Given the description of an element on the screen output the (x, y) to click on. 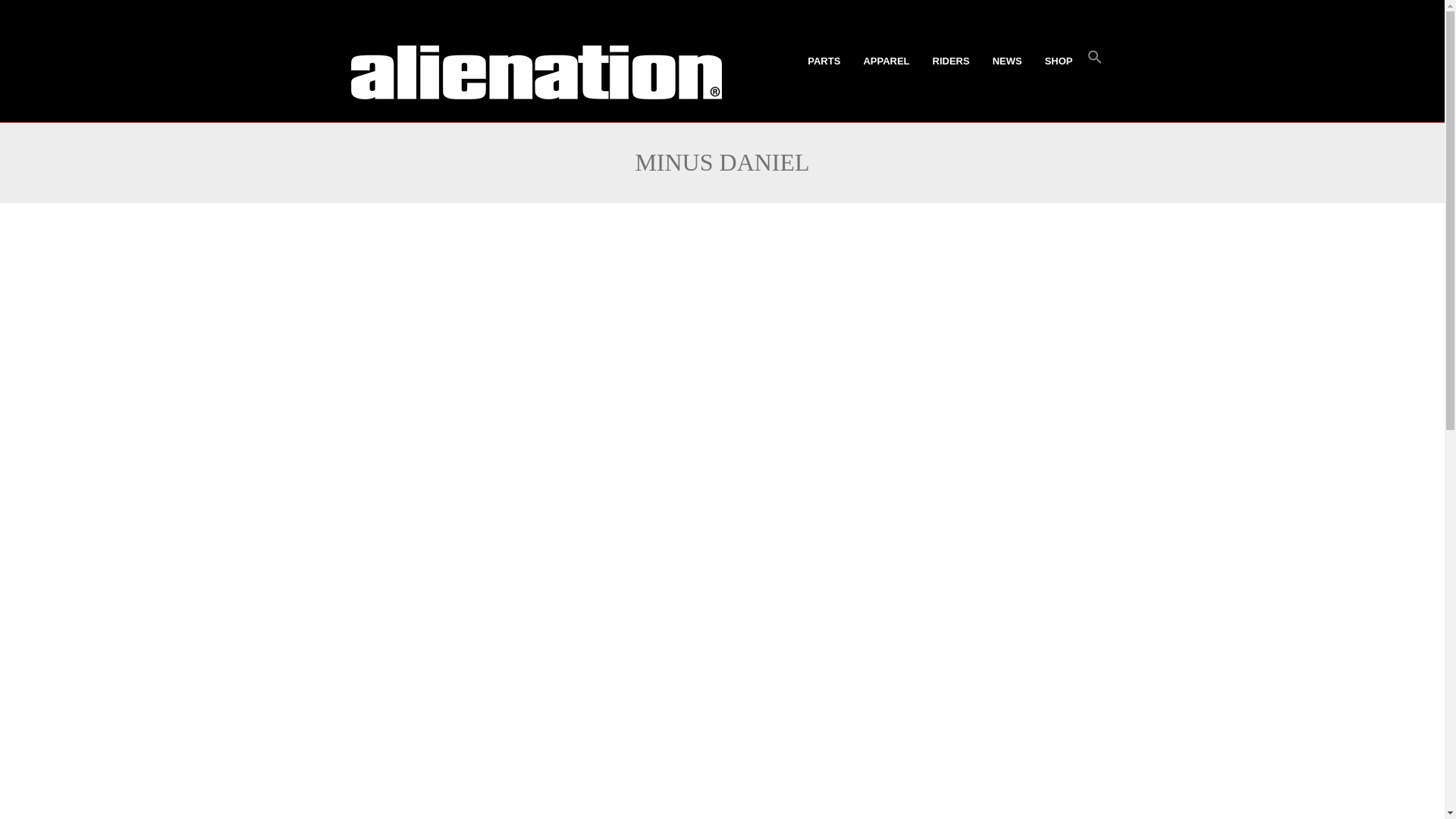
SHOP (1058, 61)
NEWS (1007, 61)
PARTS (823, 61)
APPAREL (885, 61)
Alienation Bicycle Components (535, 71)
RIDERS (951, 61)
